Given the description of an element on the screen output the (x, y) to click on. 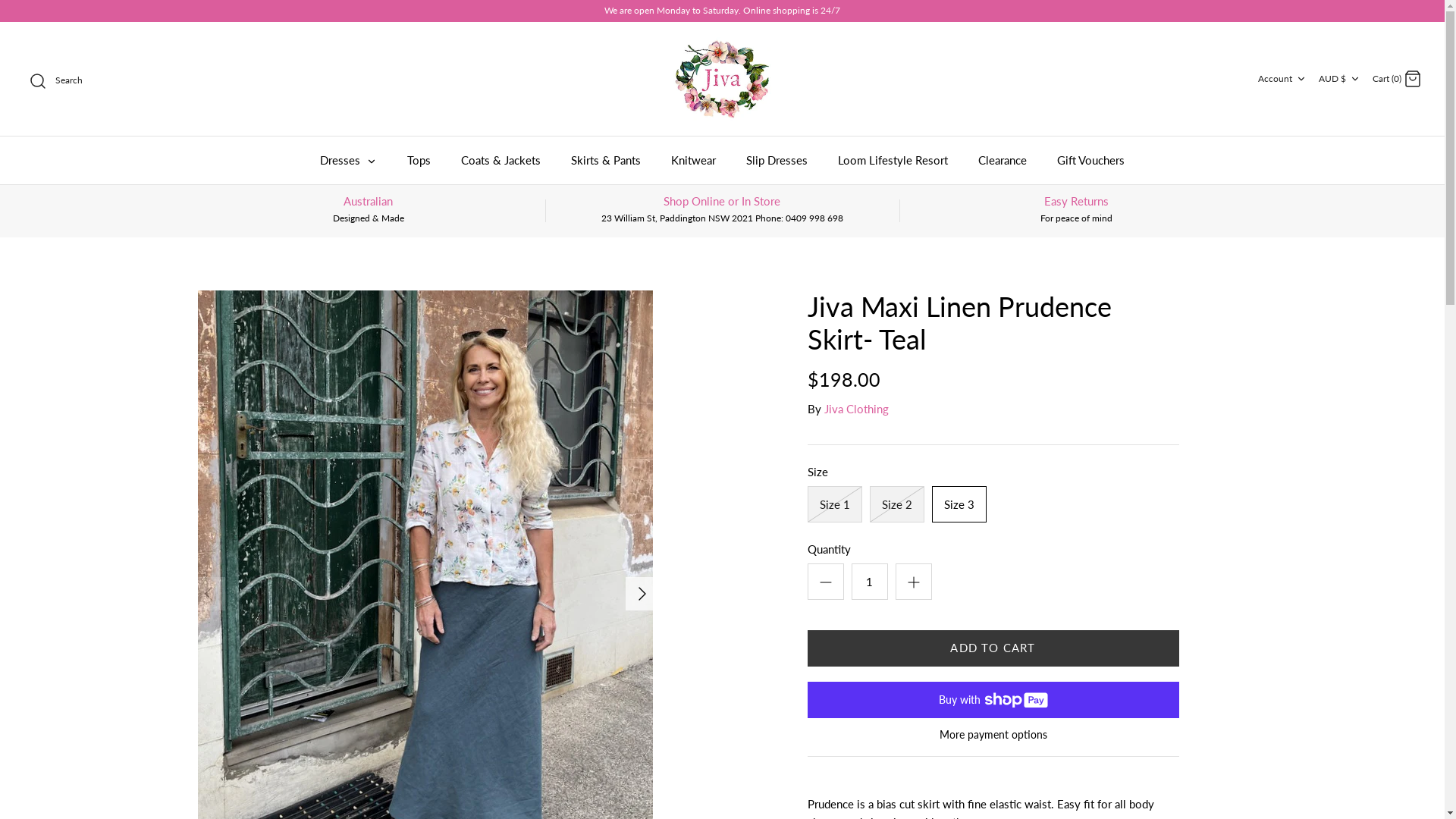
Size 1 Element type: text (833, 504)
Skirts & Pants Element type: text (605, 160)
Slip Dresses Element type: text (776, 160)
Knitwear Element type: text (693, 160)
AUD $
Down Element type: text (1340, 78)
Account
Down Element type: text (1283, 78)
Plus Element type: text (912, 581)
Easy Returns
For peace of mind Element type: text (1076, 209)
Tops Element type: text (418, 160)
Loom Lifestyle Resort Element type: text (892, 160)
Add to Cart Element type: text (992, 648)
Coats & Jackets Element type: text (500, 160)
Jiva Clothing Element type: hover (722, 79)
LEFT Element type: text (207, 593)
Minus Element type: text (824, 581)
Jiva Clothing Element type: text (855, 408)
Gift Vouchers Element type: text (1090, 160)
More payment options Element type: text (992, 734)
Clearance Element type: text (1002, 160)
Size 3 Element type: text (958, 504)
Australian
Designed & Made Element type: text (368, 209)
Cart (0) Cart Element type: text (1396, 77)
RIGHT Element type: text (641, 593)
Size 2 Element type: text (896, 504)
Dresses Toggle menu Element type: text (348, 160)
